Given the description of an element on the screen output the (x, y) to click on. 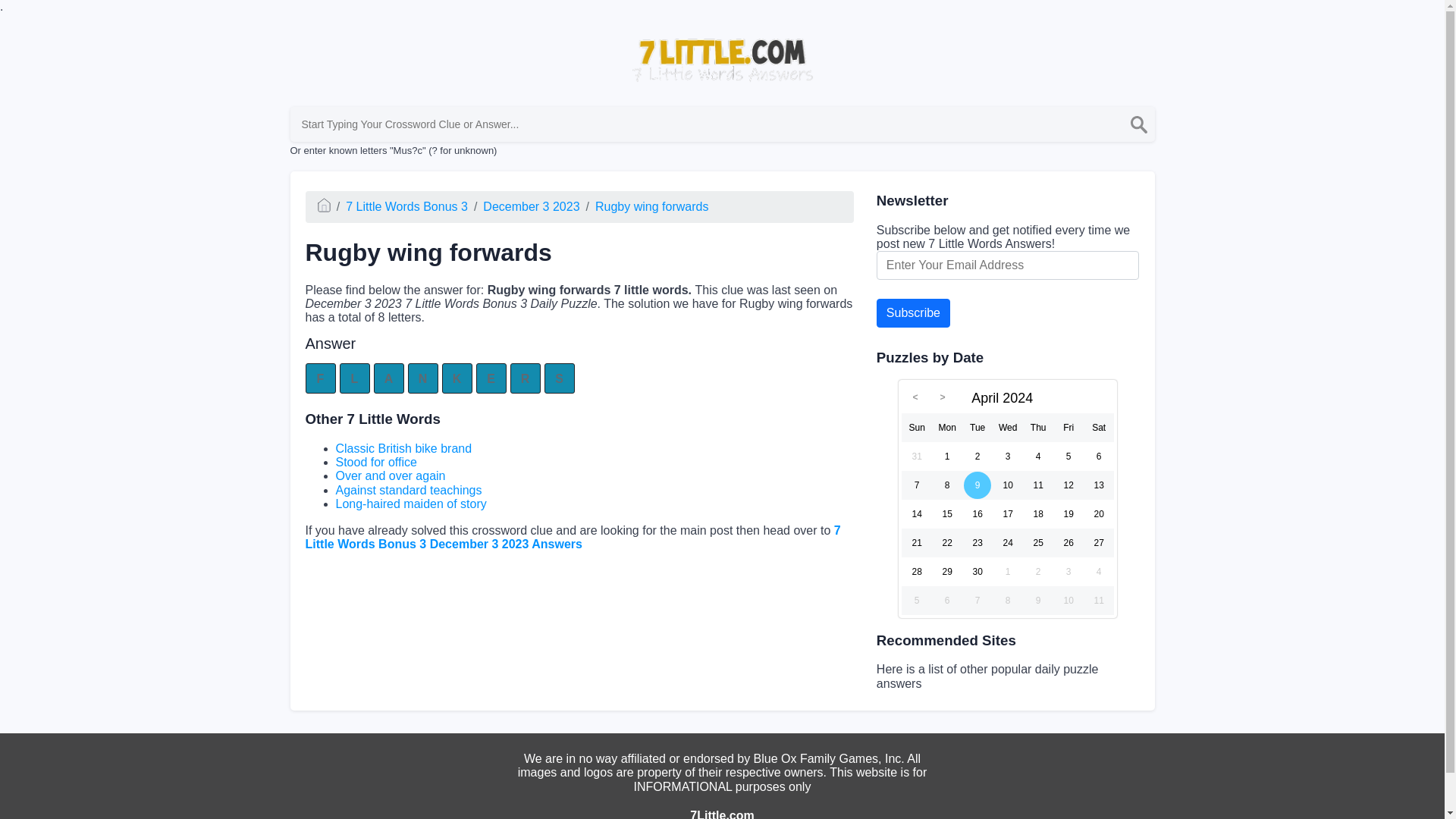
Long-haired maiden of story (410, 503)
Subscribe (913, 312)
Stood for office (375, 461)
Against standard teachings (407, 490)
Subscribe (913, 312)
7 Little Words Bonus 3 December 3 2023 Answers (572, 536)
Classic British bike brand (402, 448)
December 3 2023 (531, 205)
7 Little Words Bonus 3 (406, 205)
Rugby wing forwards (651, 205)
